Given the description of an element on the screen output the (x, y) to click on. 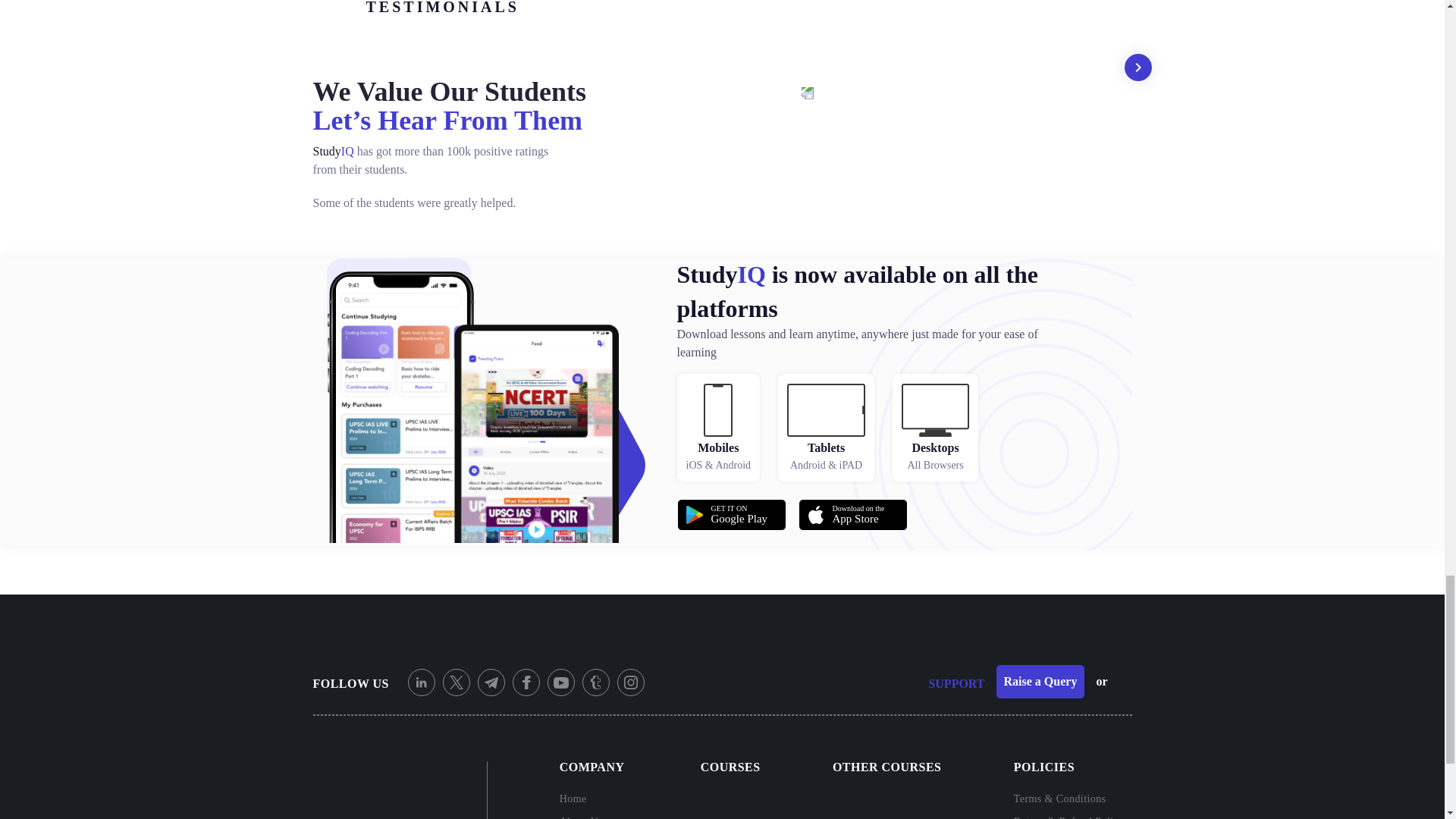
About Us (593, 814)
Home (852, 514)
